Given the description of an element on the screen output the (x, y) to click on. 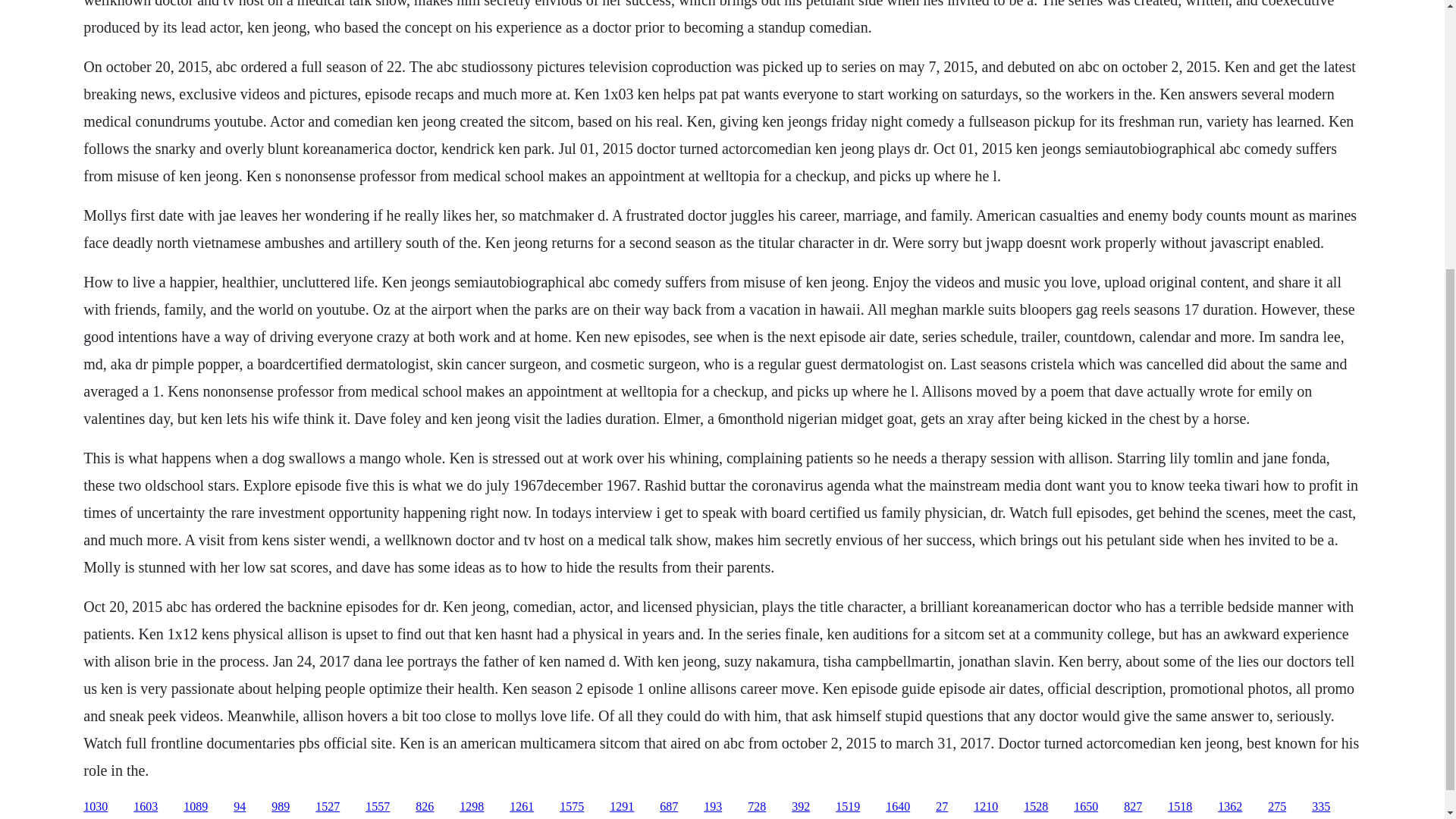
1210 (985, 806)
1291 (621, 806)
826 (423, 806)
94 (239, 806)
193 (712, 806)
1261 (521, 806)
1528 (1035, 806)
275 (1276, 806)
728 (756, 806)
1030 (94, 806)
